Given the description of an element on the screen output the (x, y) to click on. 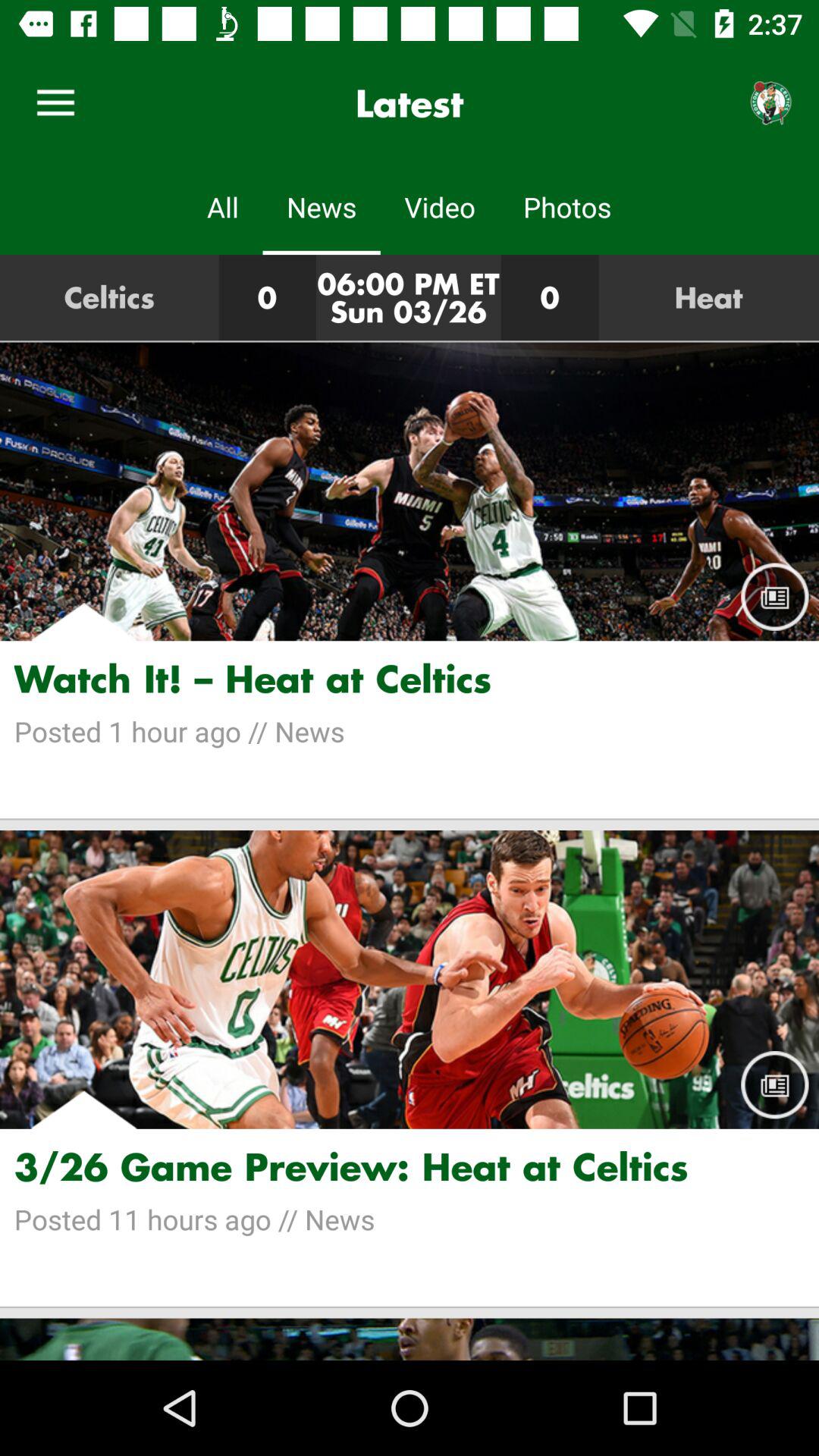
tap the posted 11 hours icon (409, 1219)
